Given the description of an element on the screen output the (x, y) to click on. 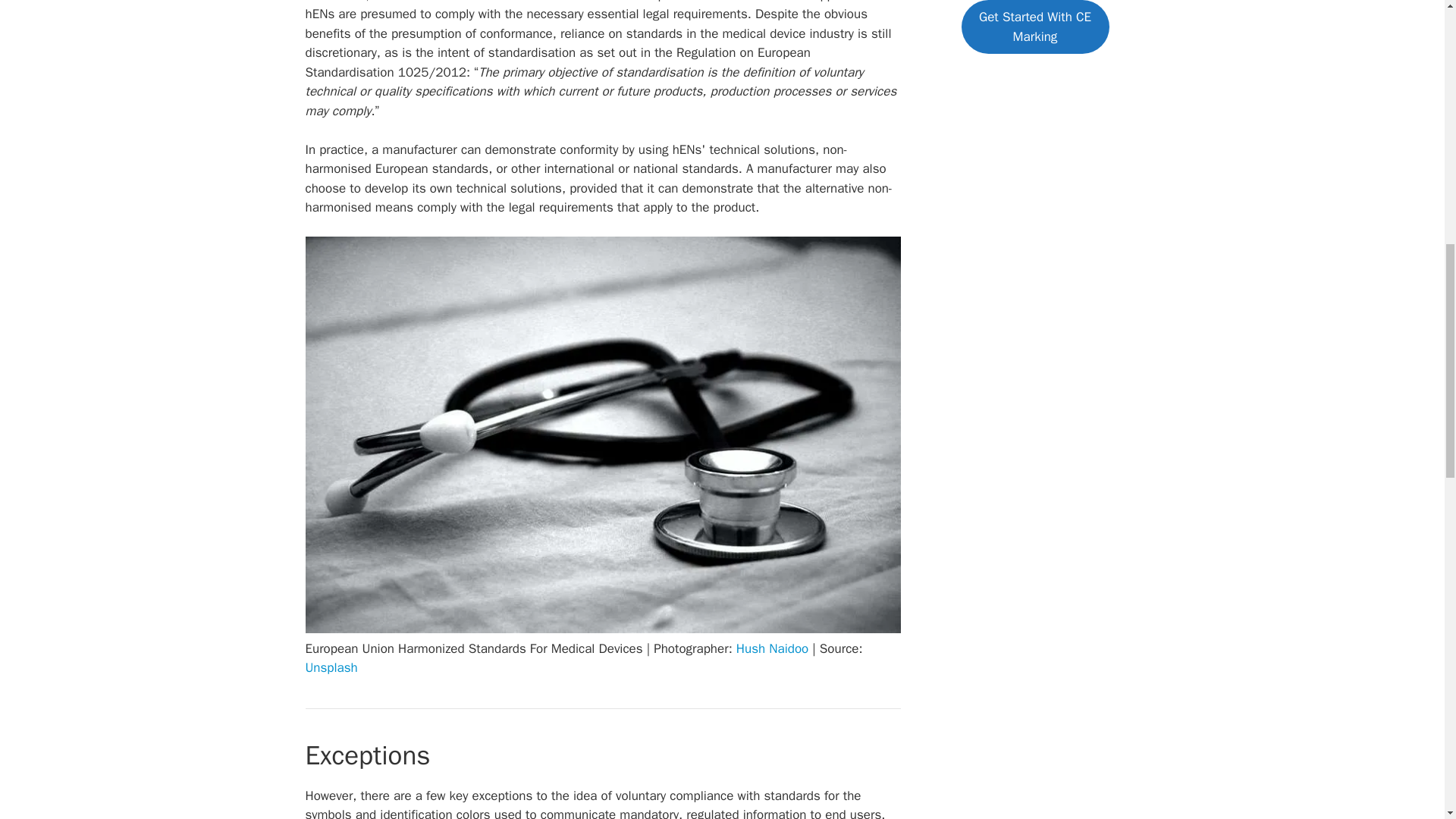
Unsplash (330, 667)
Hush Naidoo (772, 648)
